Given the description of an element on the screen output the (x, y) to click on. 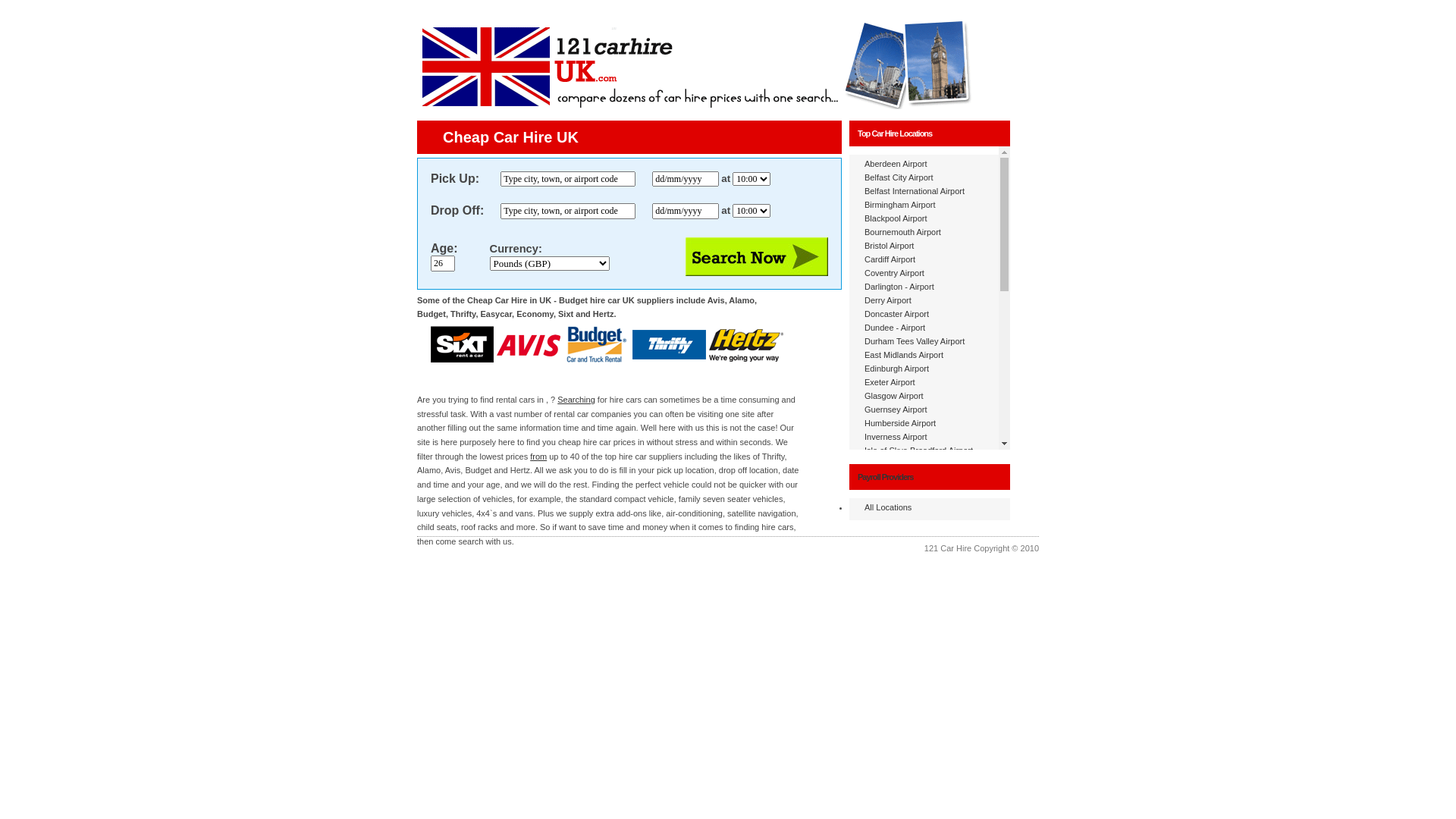
> Element type: text (136, 14)
Inverness Airport Element type: text (895, 436)
East Midlands Airport Element type: text (903, 354)
Bristol Airport Element type: text (888, 245)
Cheap Car Hire UK Element type: text (510, 136)
Ronaldsway Airport Element type: text (900, 723)
Newquay Airport Element type: text (894, 654)
Birmingham Airport Element type: text (899, 204)
Kirkwall - Airport Orkney Element type: text (908, 490)
Norwich Airport Element type: text (892, 668)
Sumburgh Airport Element type: text (896, 750)
London - Luton Airport Element type: text (905, 586)
Robin Hood Airport Element type: text (899, 709)
Edinburgh Airport Element type: text (896, 368)
Durham Tees Valley Airport Element type: text (914, 340)
Derry Airport Element type: text (887, 299)
Newcastle Airport Element type: text (896, 641)
All Locations Element type: text (887, 506)
Isle of Skye Broadford Airport Element type: text (918, 450)
dd/mm/yyyy Element type: text (685, 210)
Jersey Airport Element type: text (889, 463)
Aberdeen Airport Element type: text (895, 163)
London - Stansted Airport Element type: text (911, 600)
dd/mm/yyyy Element type: text (685, 178)
Glasgow Airport Element type: text (893, 395)
London - Heathrow Airport Element type: text (912, 559)
Cardiff Airport Element type: text (889, 258)
London - Gatwick Airport Element type: text (909, 531)
Liverpool Airport Element type: text (894, 518)
Leeds Airport Element type: text (888, 504)
Humberside Airport Element type: text (899, 422)
Dundee - Airport Element type: text (894, 327)
Manchester Airport Element type: text (899, 613)
Guernsey Airport Element type: text (895, 409)
London - London City Airport Element type: text (917, 572)
Bournemouth Airport Element type: text (902, 231)
Blackpool Airport Element type: text (895, 217)
< Element type: text (14, 14)
Manchester Airport Terminal 1 Element type: text (919, 627)
Payroll Providers Element type: text (885, 476)
Teesside Airport Element type: text (893, 763)
Doncaster Airport Element type: text (896, 313)
London - Gatwick North Airport Element type: text (921, 545)
Belfast International Airport Element type: text (914, 190)
John Lennon Airport Element type: text (901, 477)
Prestwick Airport Element type: text (895, 695)
Darlington - Airport Element type: text (899, 286)
Exeter Airport Element type: text (889, 381)
Searching Element type: text (576, 399)
Coventry Airport Element type: text (894, 272)
from Element type: text (538, 456)
Southampton Airport Element type: text (902, 736)
Plymouth Airport Element type: text (894, 682)
Belfast City Airport Element type: text (898, 177)
